Given the description of an element on the screen output the (x, y) to click on. 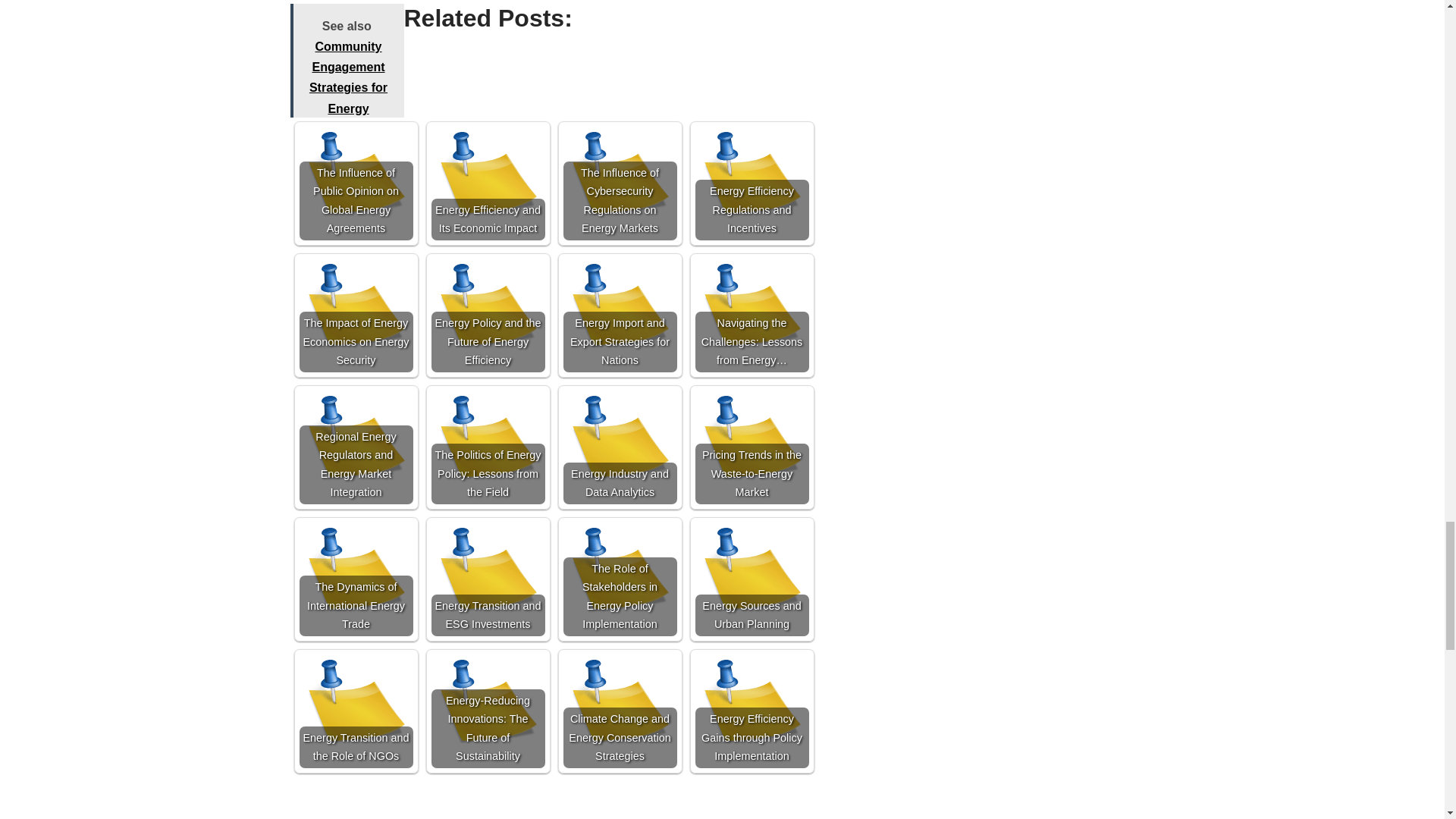
The Impact of Energy Economics on Energy Security (355, 315)
The Influence of Public Opinion on Global Energy Agreements (355, 183)
Energy Efficiency Regulations and Incentives (751, 183)
Energy Policy and the Future of Energy Efficiency (487, 315)
The Influence of Cybersecurity Regulations on Energy Markets (619, 183)
Energy Efficiency and Its Economic Impact (487, 183)
Energy Import and Export Strategies for Nations (619, 315)
